Given the description of an element on the screen output the (x, y) to click on. 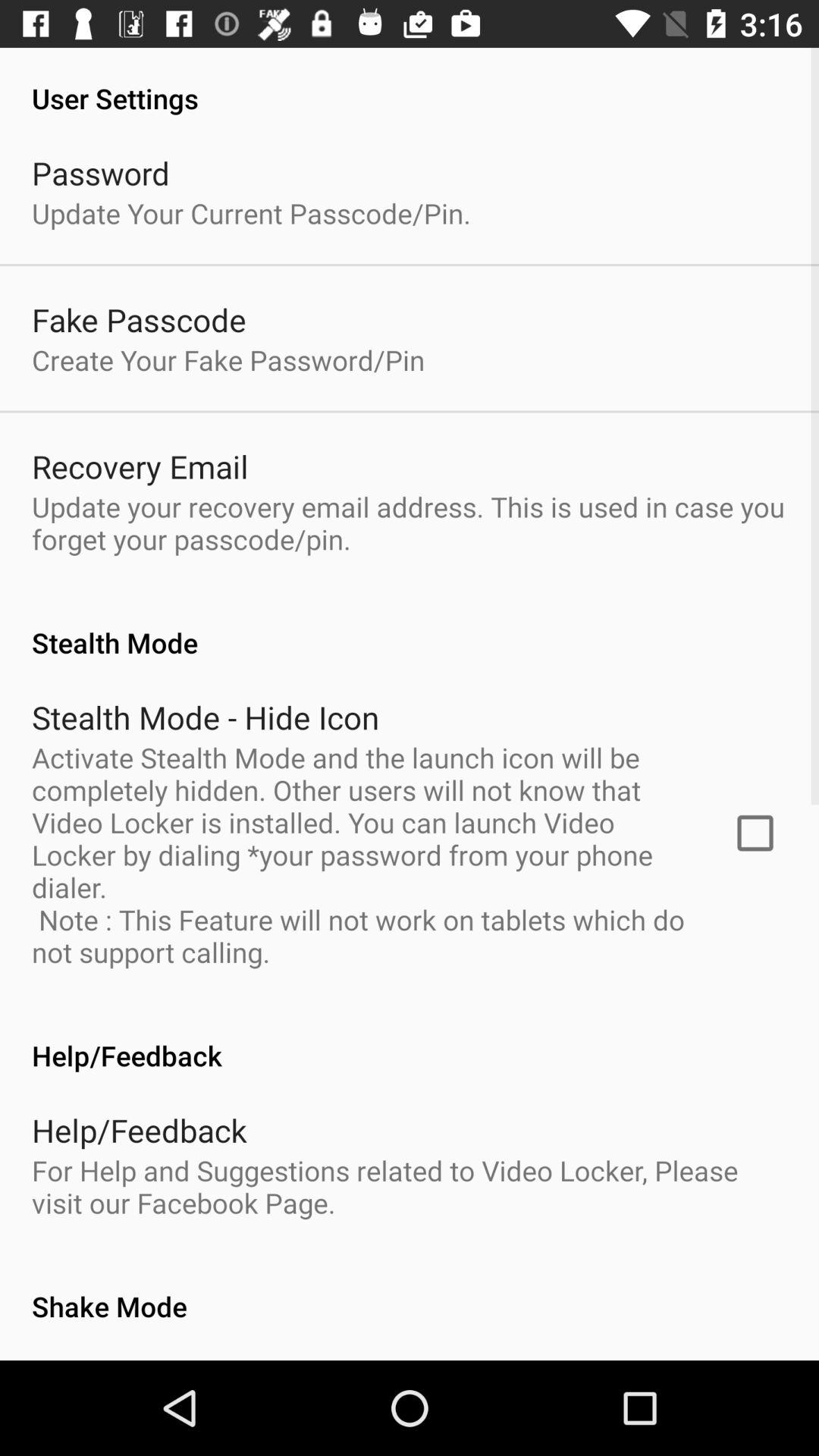
select app below the fake passcode app (227, 359)
